Given the description of an element on the screen output the (x, y) to click on. 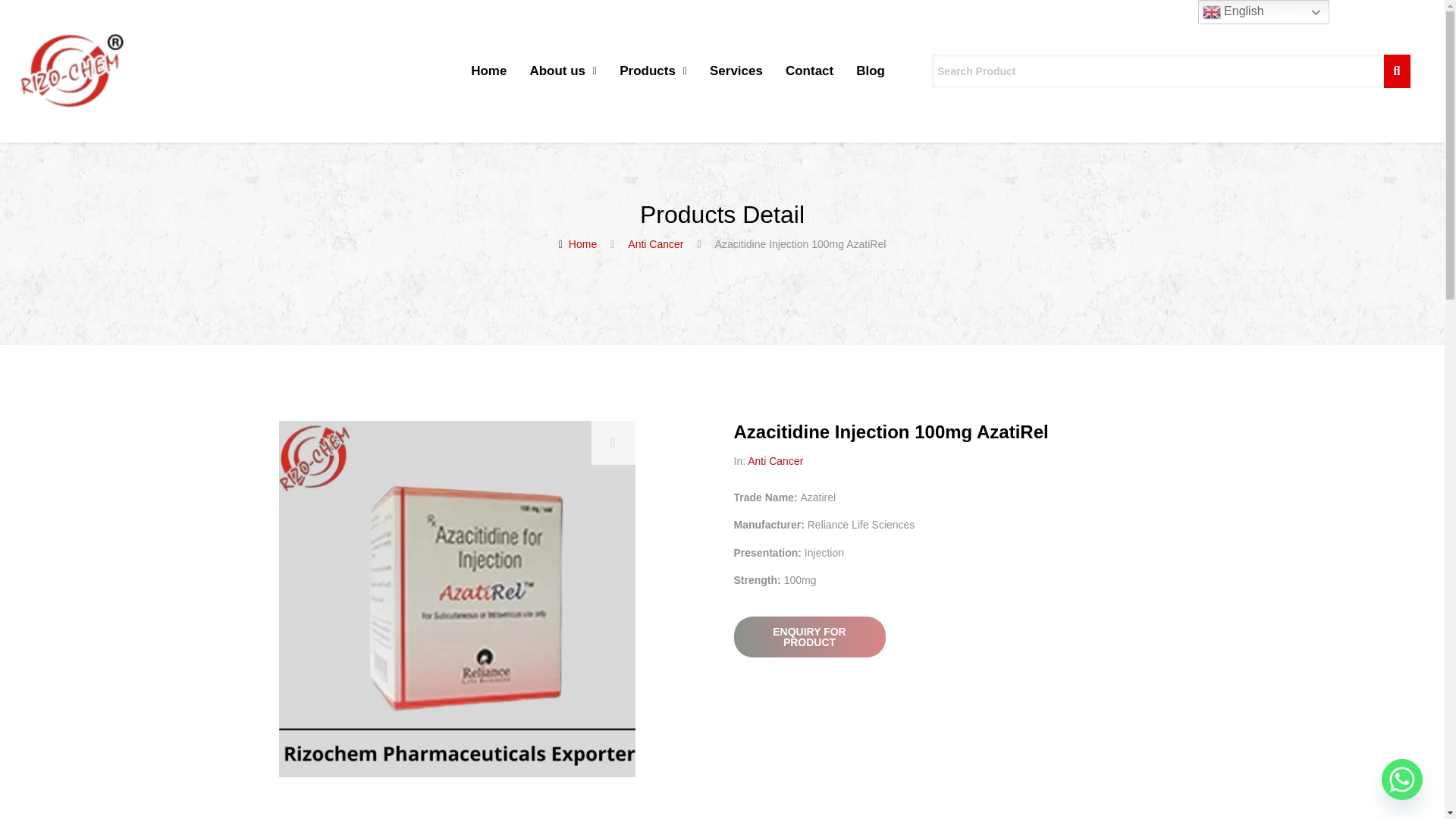
Products (653, 70)
Services (736, 70)
Home (489, 70)
Blog (870, 70)
About us (563, 70)
Search (1157, 71)
Contact (809, 70)
Enquiry For Product (809, 636)
